Given the description of an element on the screen output the (x, y) to click on. 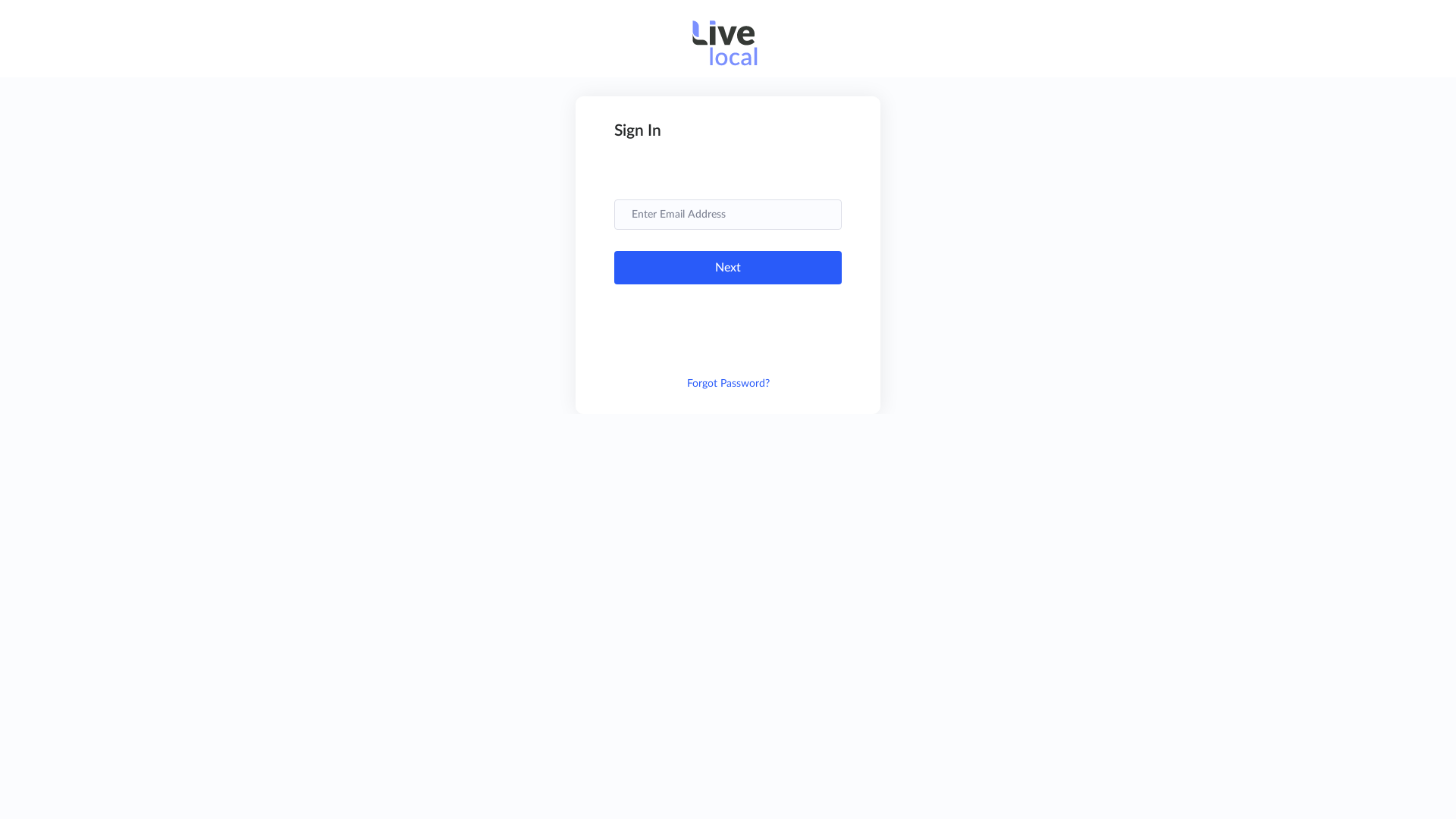
Forgot Password? Element type: text (728, 383)
